Given the description of an element on the screen output the (x, y) to click on. 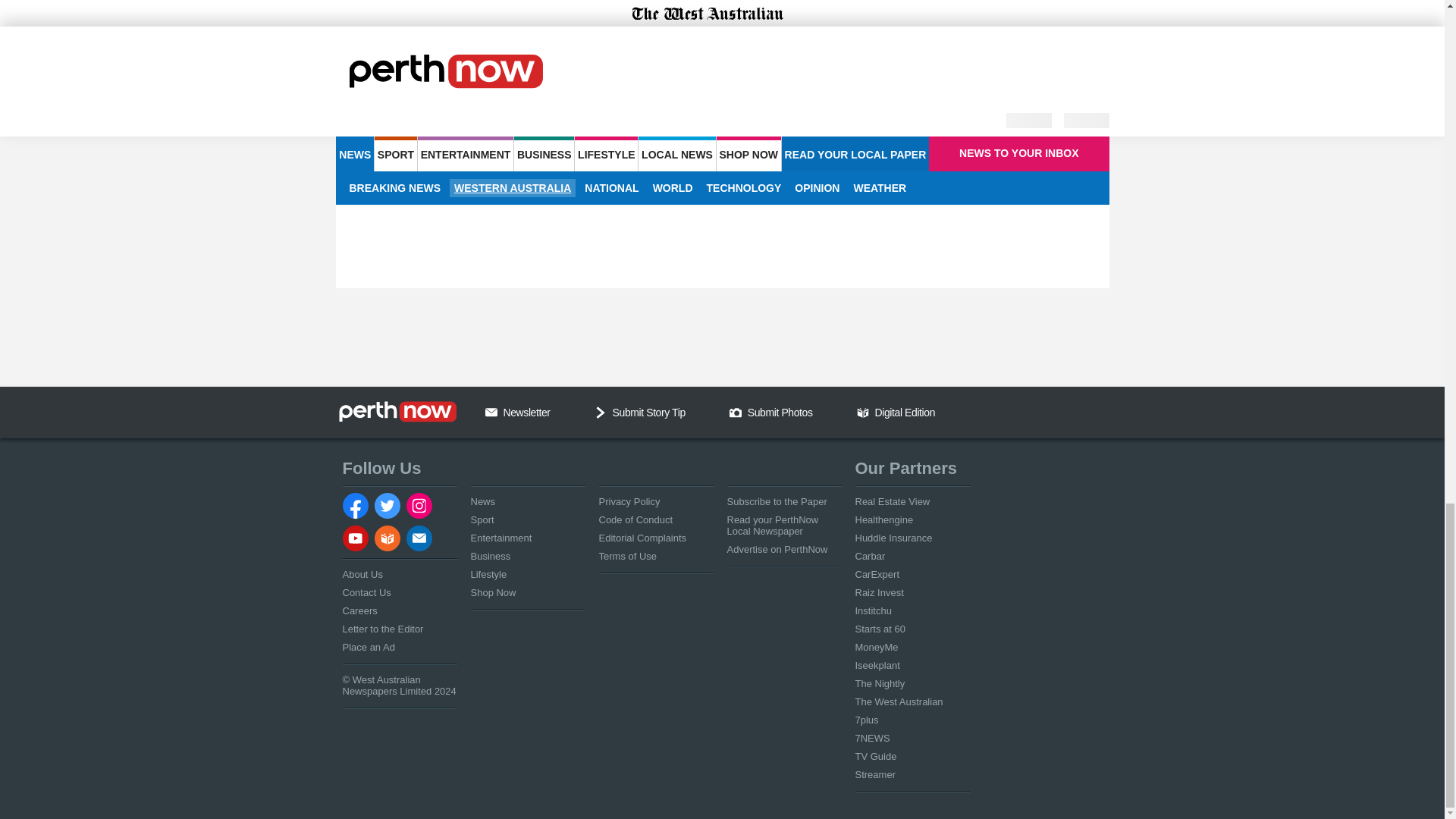
Chevron Down Icon (600, 412)
Camera Icon (735, 412)
Email Us (490, 412)
